Given the description of an element on the screen output the (x, y) to click on. 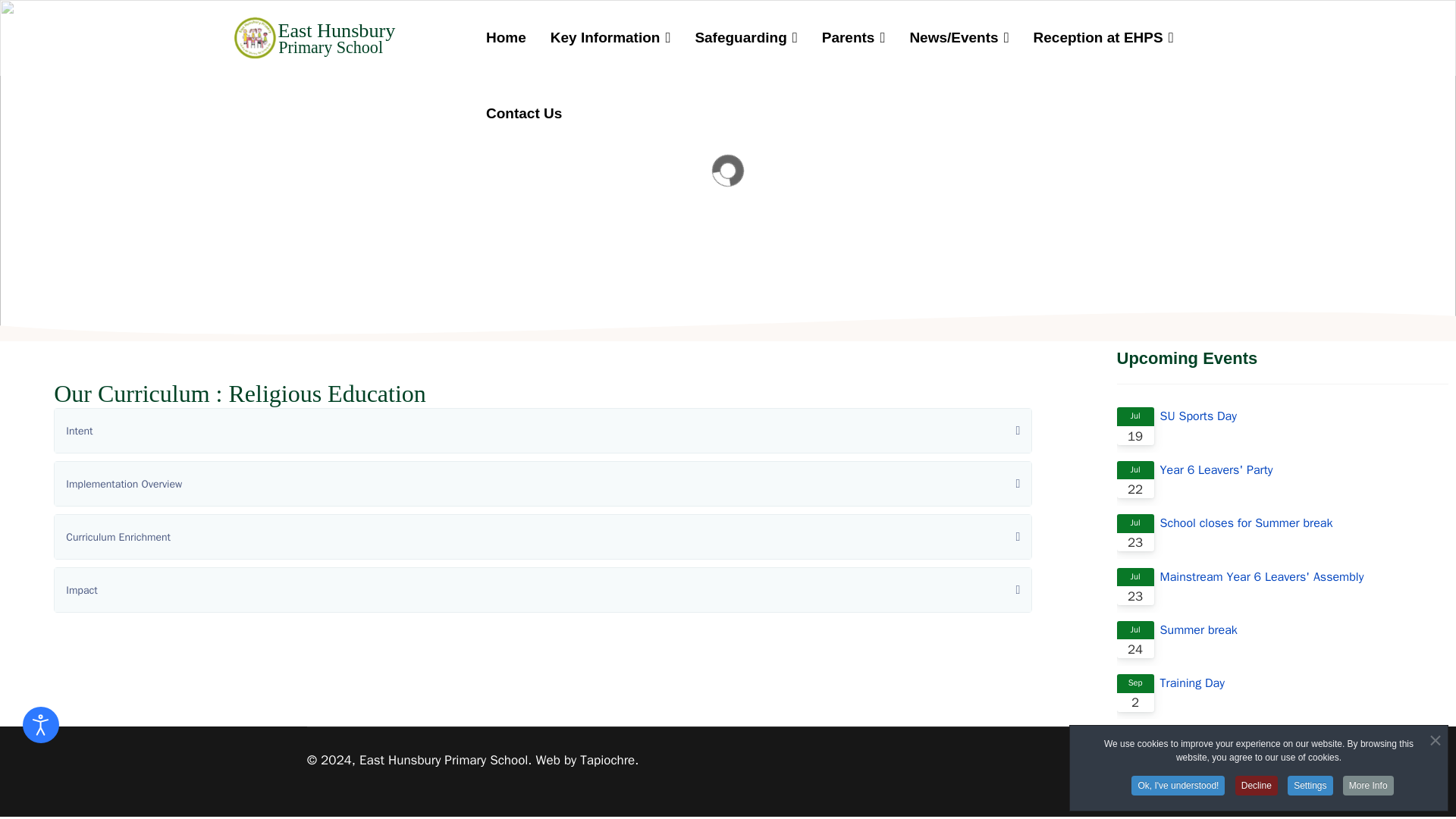
Home (506, 38)
Open accessibility tools (41, 724)
